Given the description of an element on the screen output the (x, y) to click on. 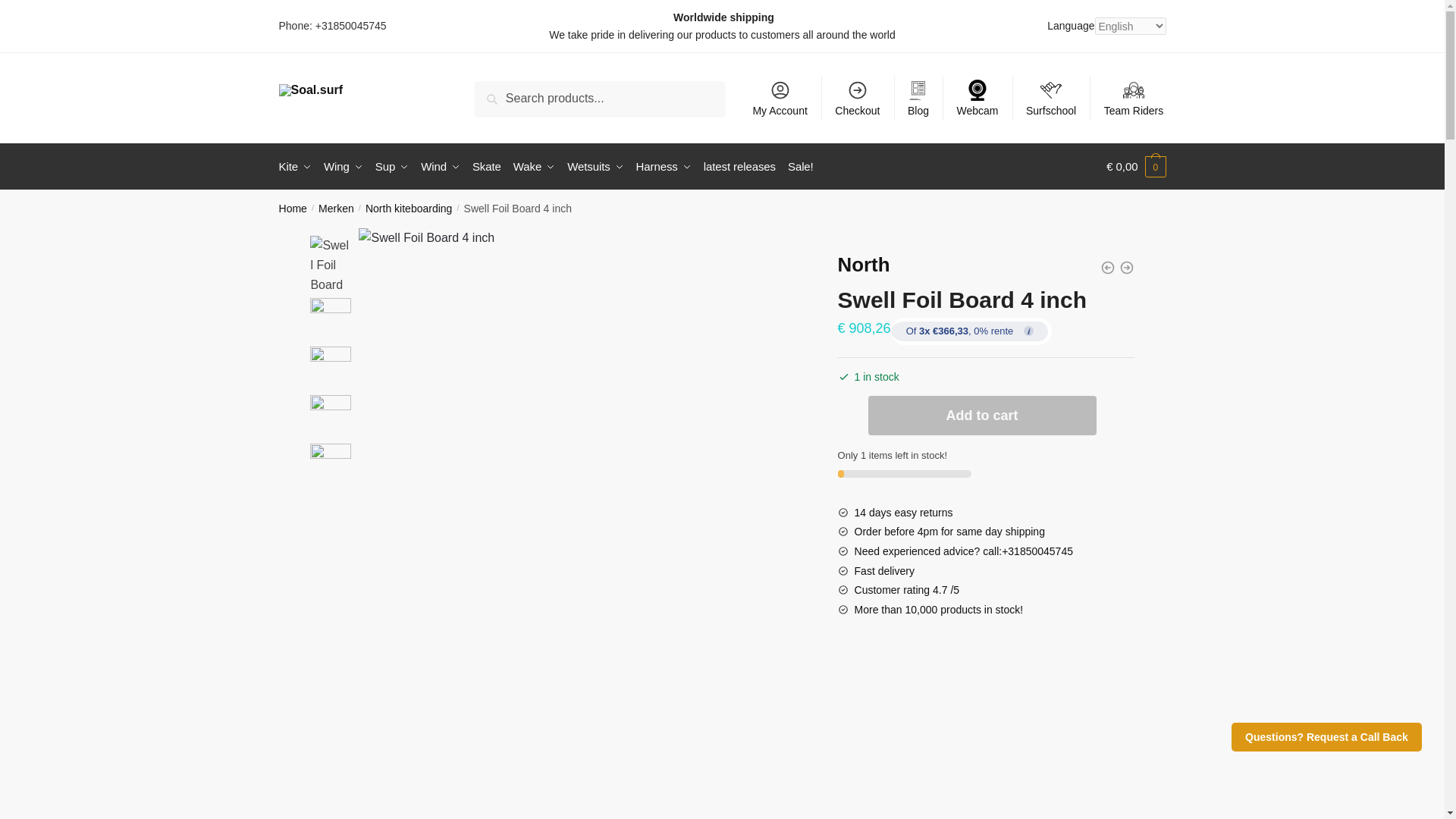
Blog (918, 97)
My Account (779, 97)
Checkout (857, 97)
View your shopping cart (1136, 166)
Swell Foil Board 4 inch 4 (330, 414)
Surfschool (1051, 97)
Team Riders (1133, 97)
Search (512, 98)
Swell Foil Board 4 inch (330, 262)
Swell Foil Board 4 inch 2 (330, 318)
Kite (298, 166)
Swell Foil Board 4 inch 3 (330, 366)
